Given the description of an element on the screen output the (x, y) to click on. 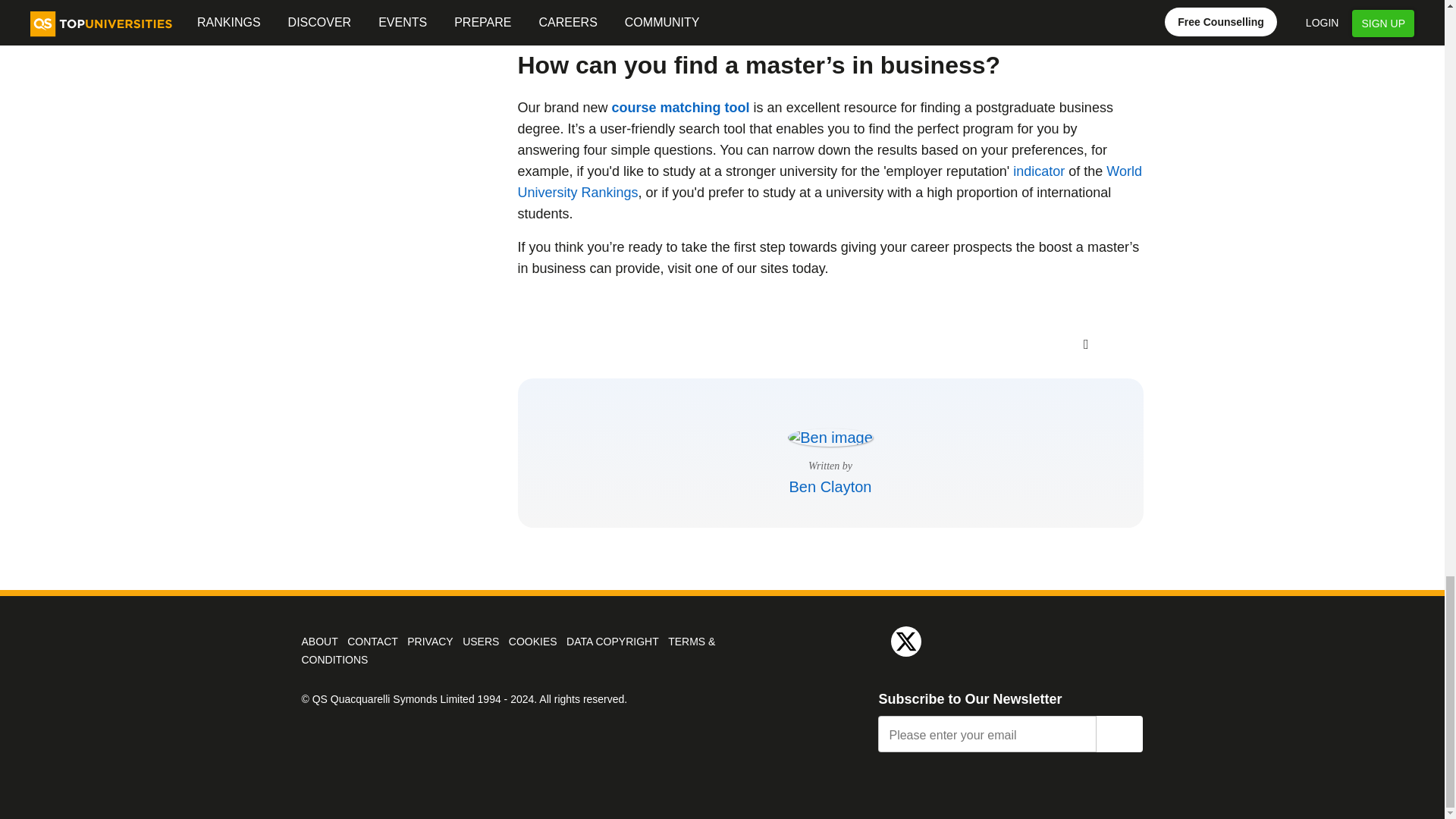
Subscribe (1119, 733)
